Given the description of an element on the screen output the (x, y) to click on. 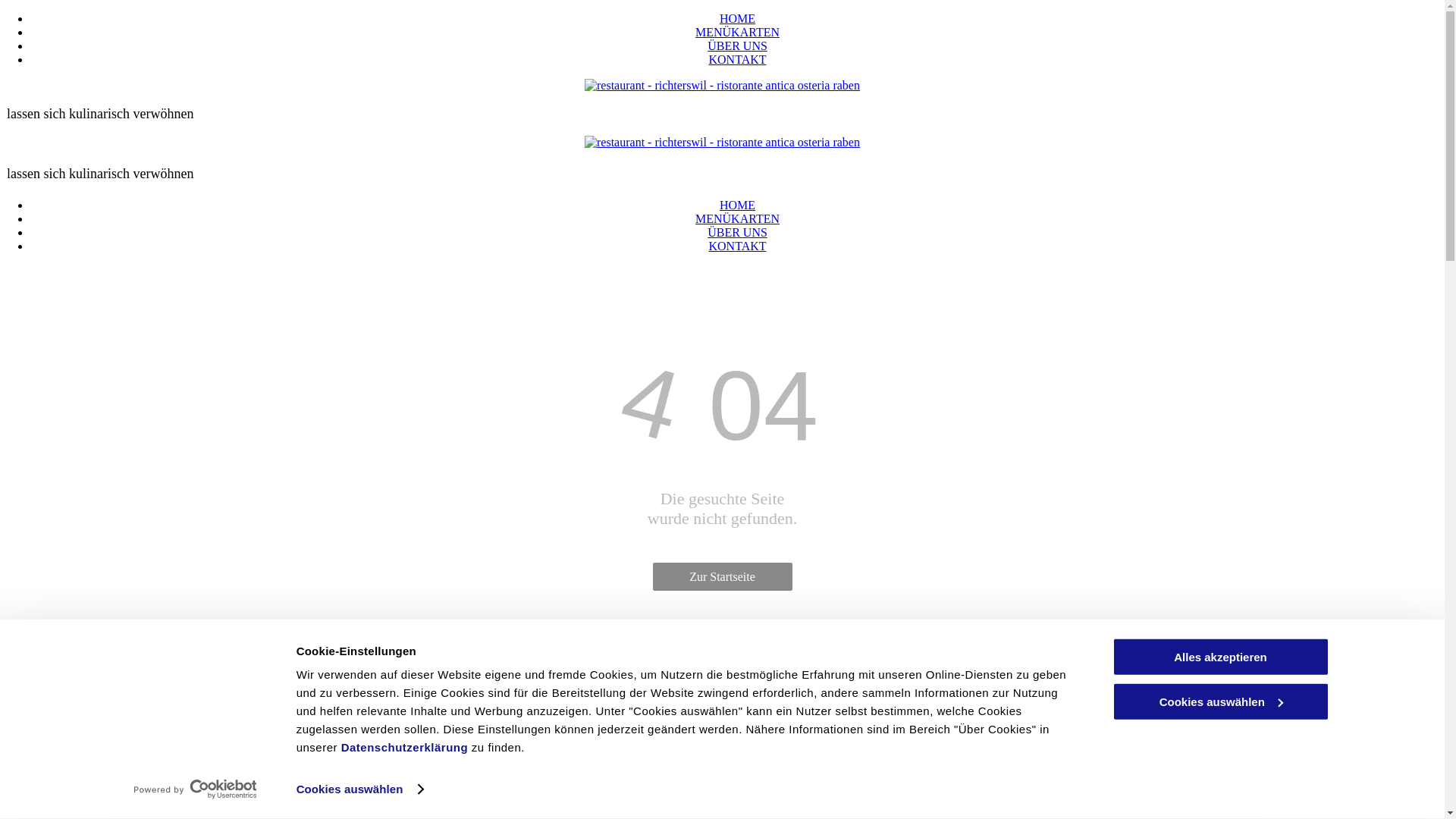
Zur Startseite Element type: text (721, 576)
Alles akzeptieren Element type: text (1219, 656)
KONTAKT Element type: text (736, 59)
KONTAKT Element type: text (736, 245)
HOME Element type: text (737, 18)
HOME Element type: text (737, 204)
